Given the description of an element on the screen output the (x, y) to click on. 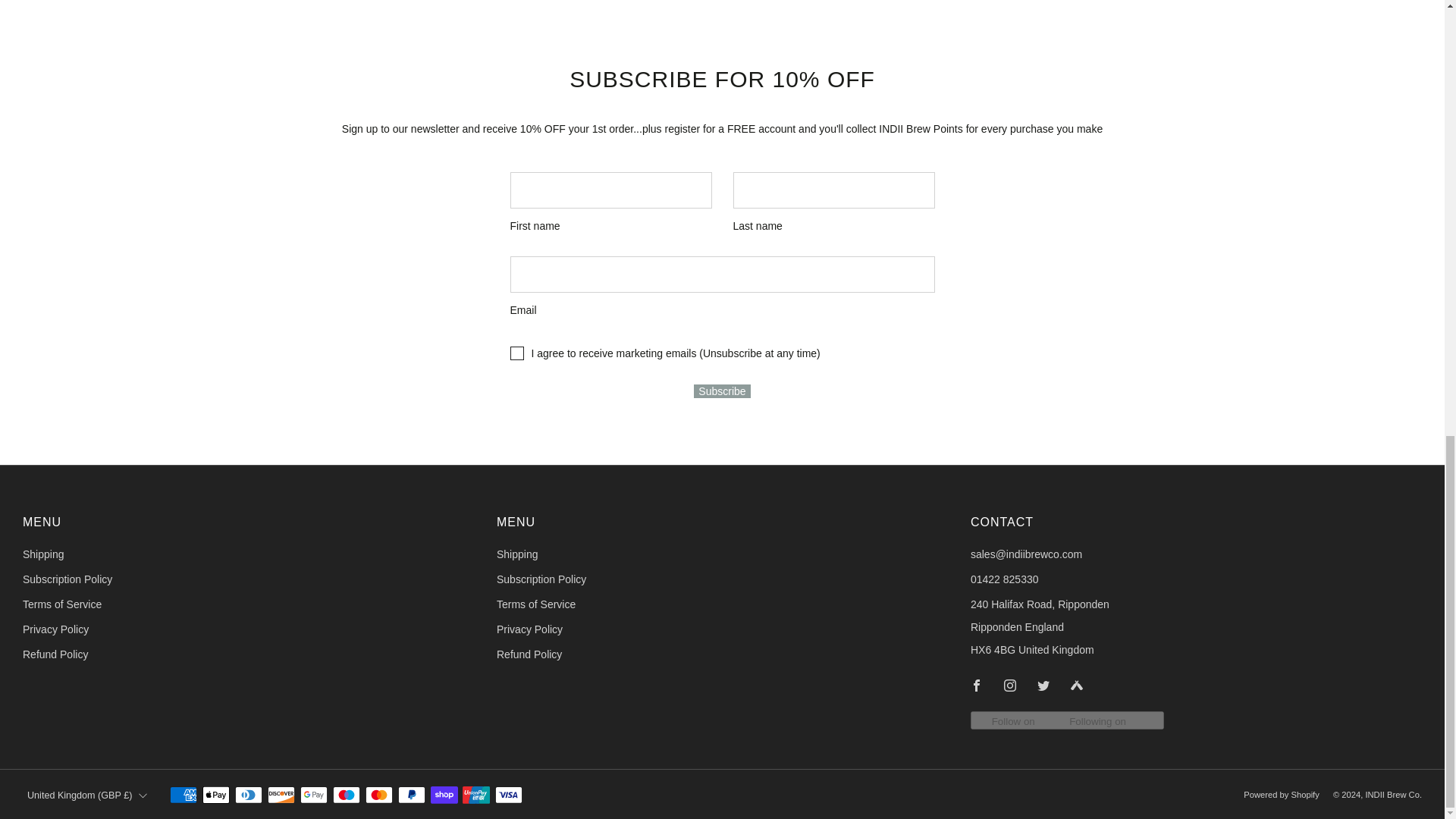
Discover (281, 794)
Diners Club (248, 794)
Union Pay (476, 794)
on (515, 353)
Google Pay (313, 794)
Mastercard (379, 794)
Visa (508, 794)
Maestro (346, 794)
PayPal (411, 794)
American Express (183, 794)
Apple Pay (216, 794)
Shop Pay (444, 794)
